Given the description of an element on the screen output the (x, y) to click on. 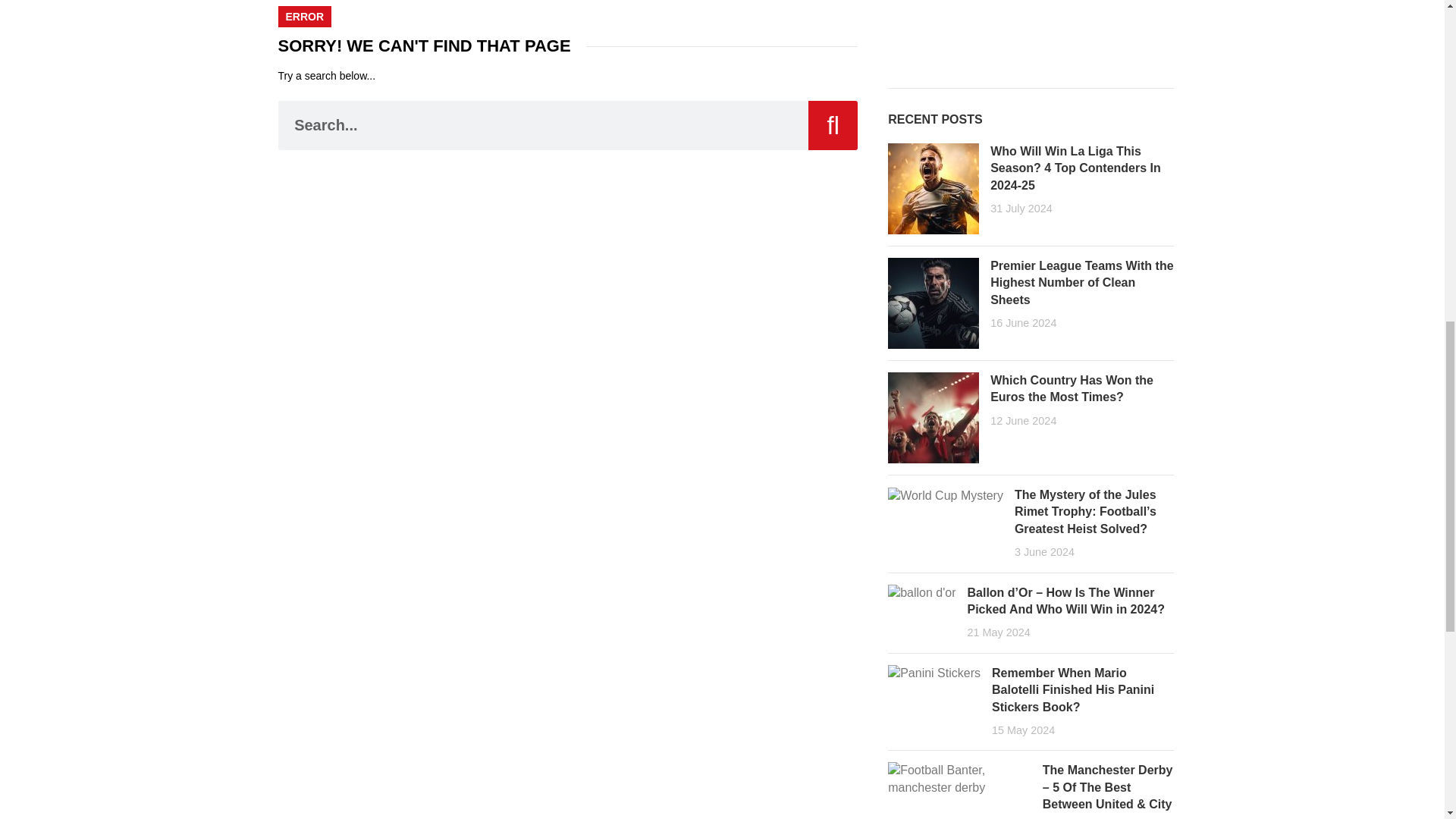
Permalink to Which Country Has Won the Euros the Most Times? (1071, 388)
